Given the description of an element on the screen output the (x, y) to click on. 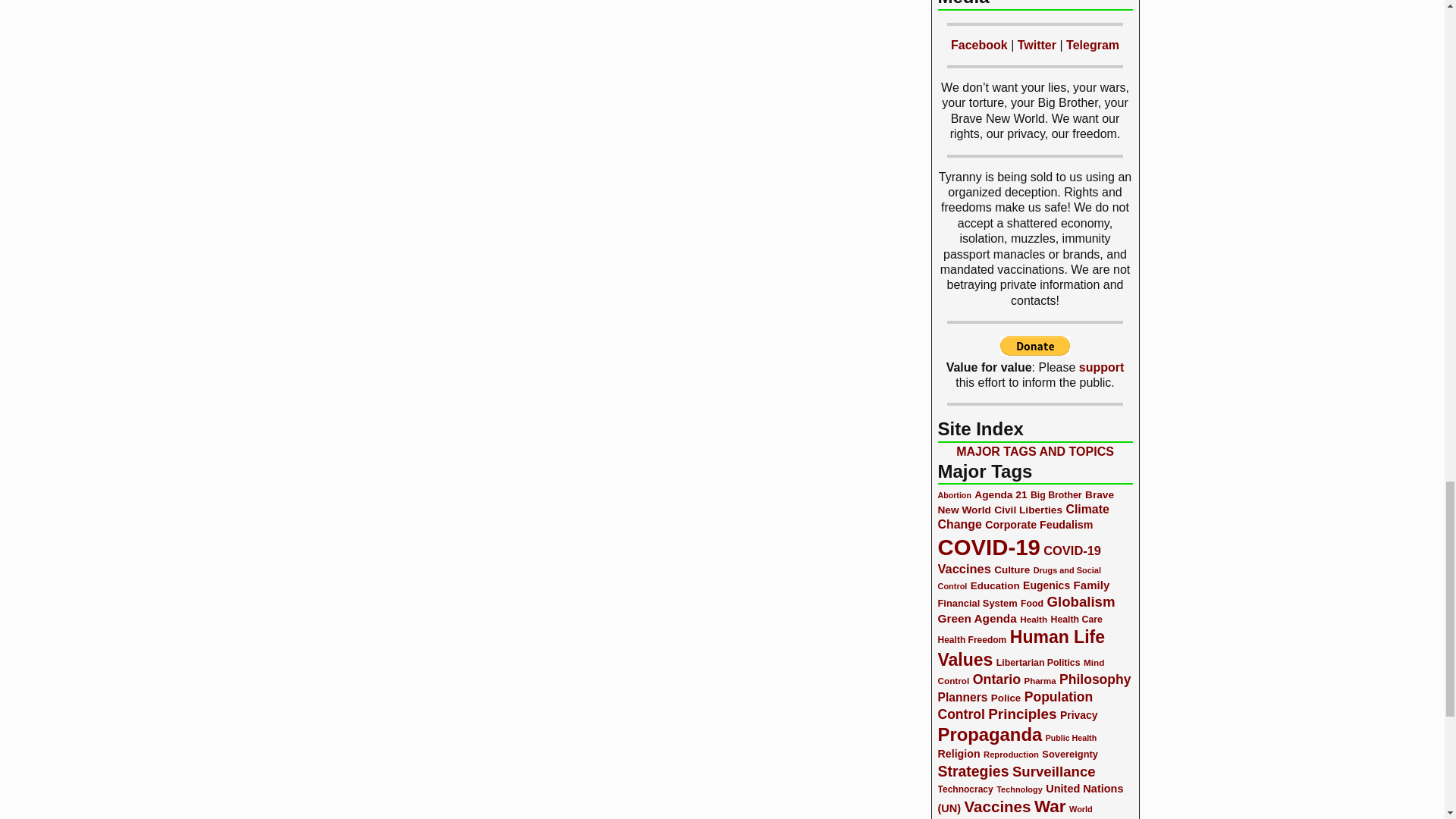
Facebook (978, 44)
Twitter (1037, 44)
Telegram (1092, 44)
